Given the description of an element on the screen output the (x, y) to click on. 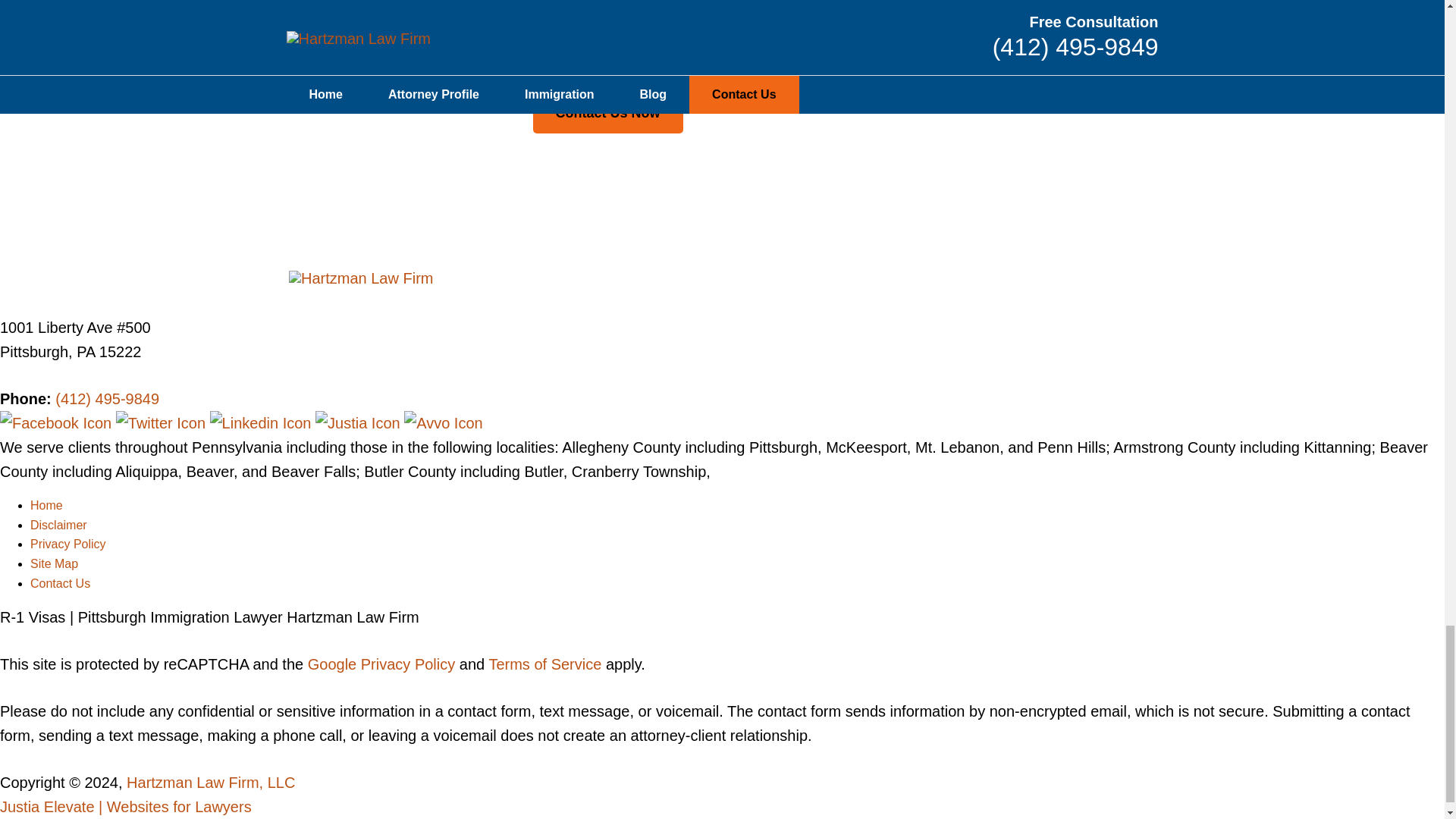
Twitter (162, 422)
Justia (359, 422)
Avvo (442, 422)
Facebook (58, 422)
Contact Us Now (607, 113)
Linkedin (262, 422)
